Given the description of an element on the screen output the (x, y) to click on. 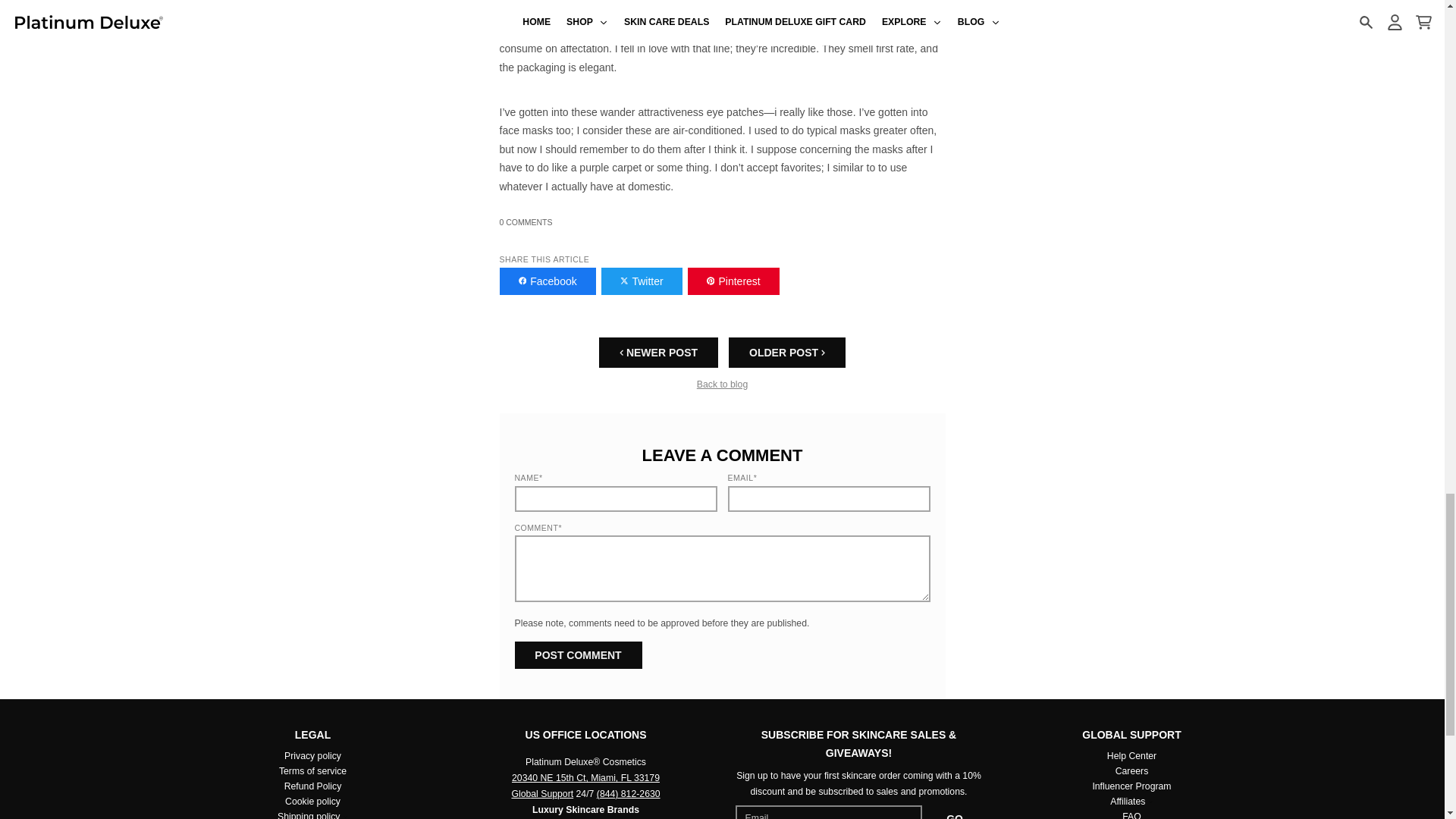
Post comment (577, 655)
